Given the description of an element on the screen output the (x, y) to click on. 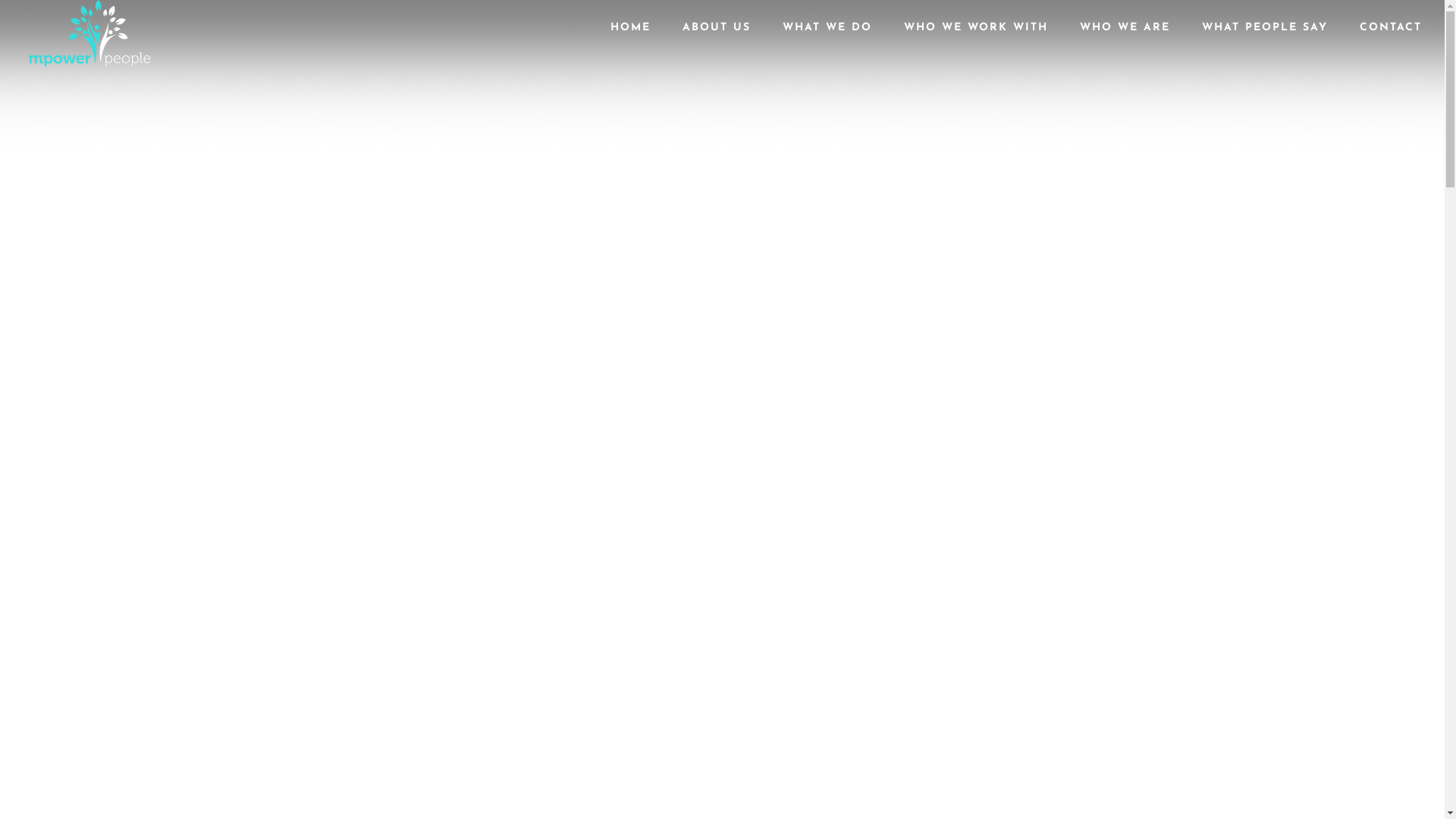
WHO WE WORK WITH Element type: text (975, 39)
ABOUT US Element type: text (716, 39)
CONTACT Element type: text (1390, 39)
WHO WE ARE Element type: text (1124, 39)
HOME Element type: text (630, 39)
WHAT WE DO Element type: text (827, 39)
WHAT PEOPLE SAY Element type: text (1264, 39)
